Given the description of an element on the screen output the (x, y) to click on. 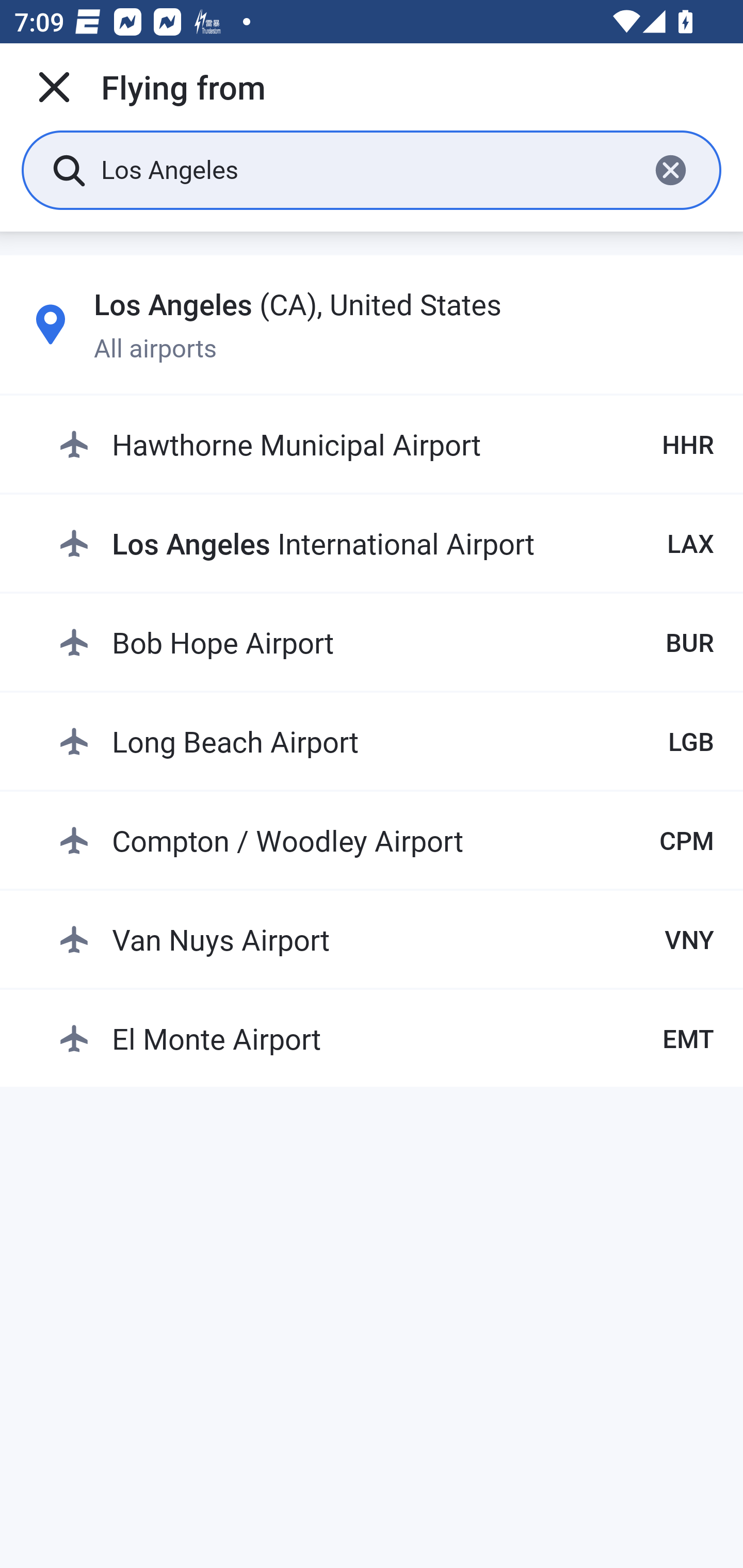
Los Angeles (367, 169)
Los Angeles (CA), United States All airports (371, 324)
Hawthorne Municipal Airport HHR (385, 444)
Los Angeles International Airport LAX (385, 543)
Bob Hope Airport BUR (385, 641)
Long Beach Airport LGB (385, 740)
Compton / Woodley Airport CPM (385, 839)
Van Nuys Airport VNY (385, 939)
El Monte Airport EMT (385, 1038)
